Given the description of an element on the screen output the (x, y) to click on. 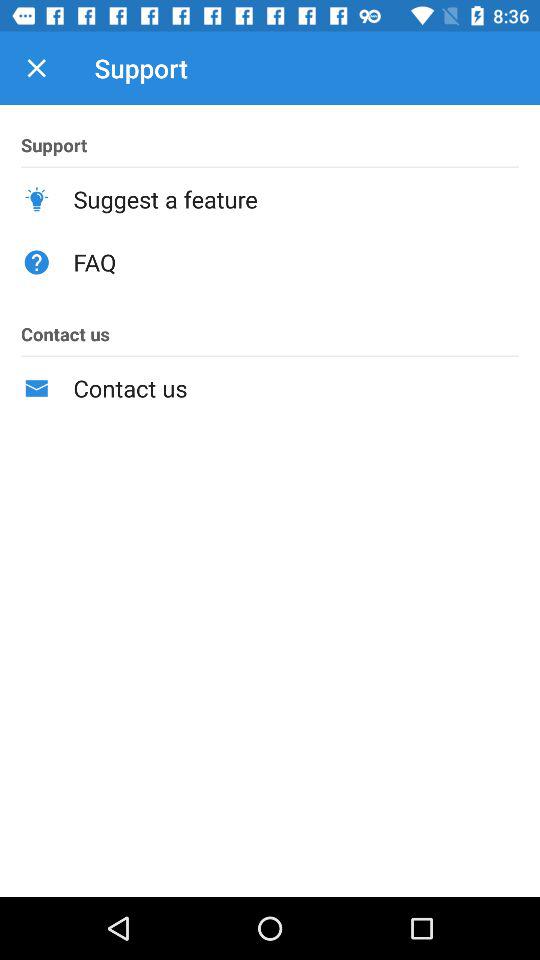
choose item above the contact us (296, 262)
